Given the description of an element on the screen output the (x, y) to click on. 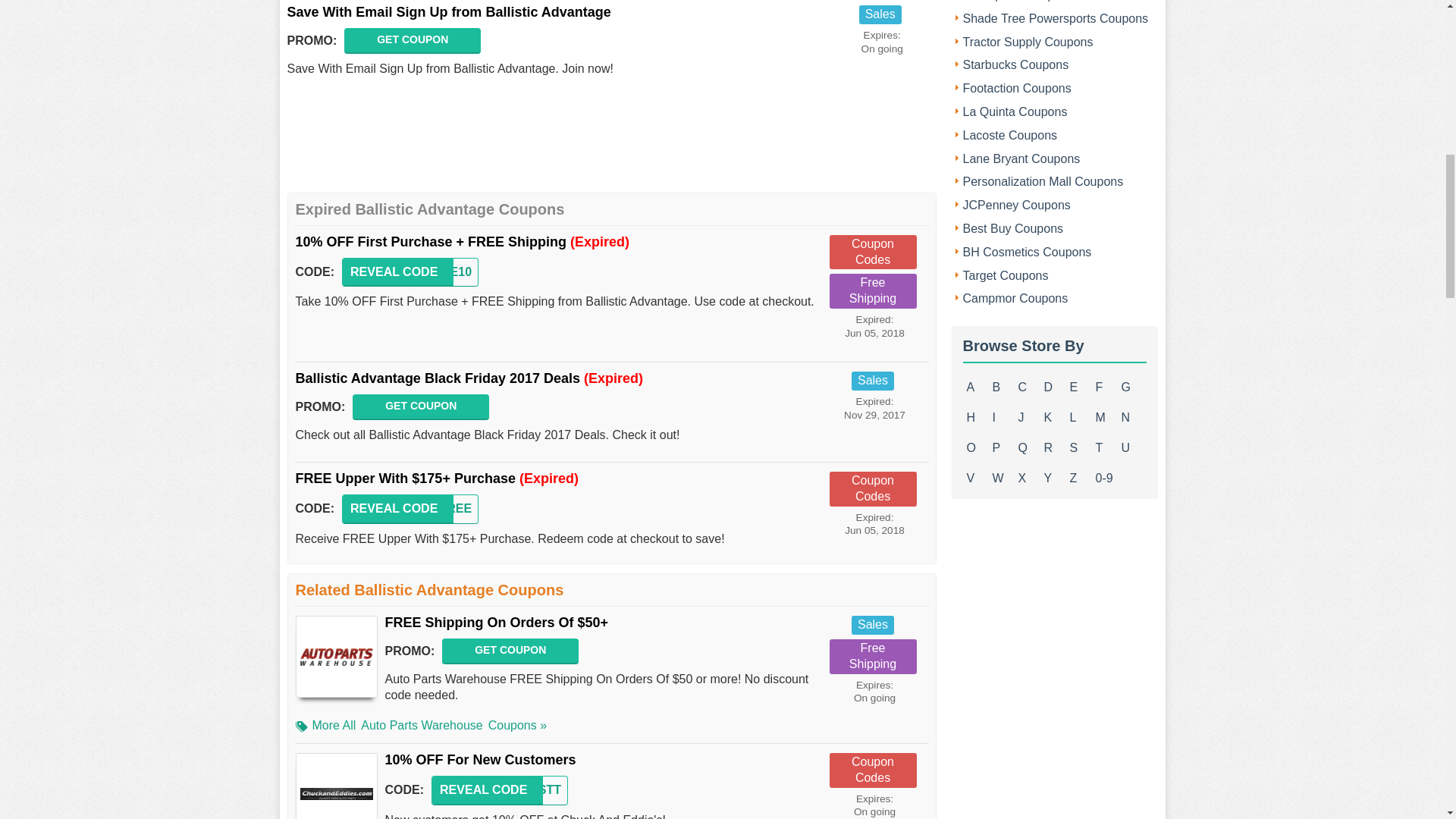
GET COUPON (411, 40)
Advertisement (611, 142)
GET COUPON (420, 406)
